Given the description of an element on the screen output the (x, y) to click on. 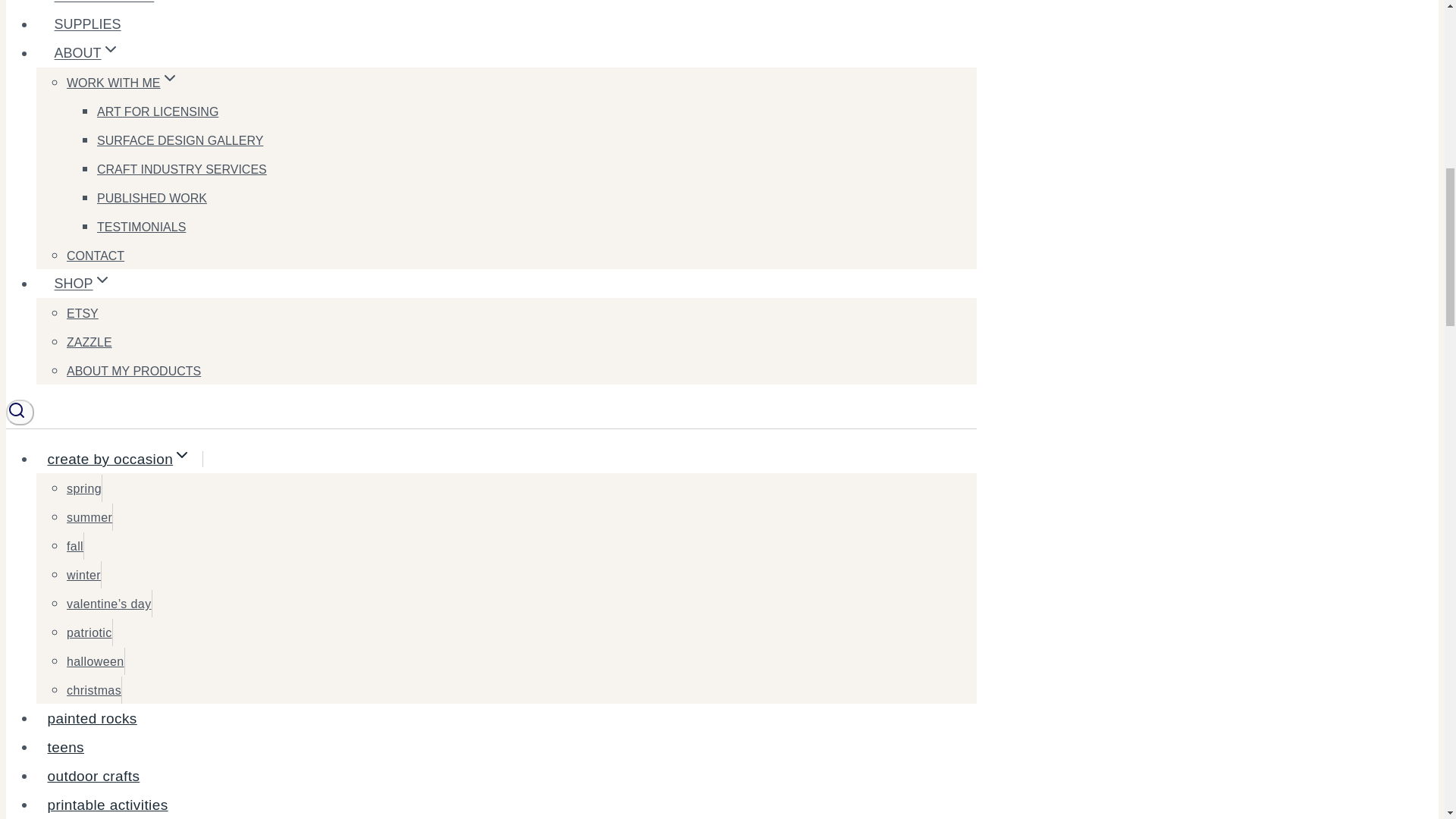
expand (181, 454)
EXPAND (110, 49)
ABOUTEXPAND (86, 53)
ETSY (82, 312)
Contact Carla Schauer (94, 255)
ZAZZLE (89, 341)
About Carla Schauer (86, 53)
Available Design Services (181, 168)
WORK WITH MEEXPAND (122, 82)
TESTIMONIALS (141, 226)
